Given the description of an element on the screen output the (x, y) to click on. 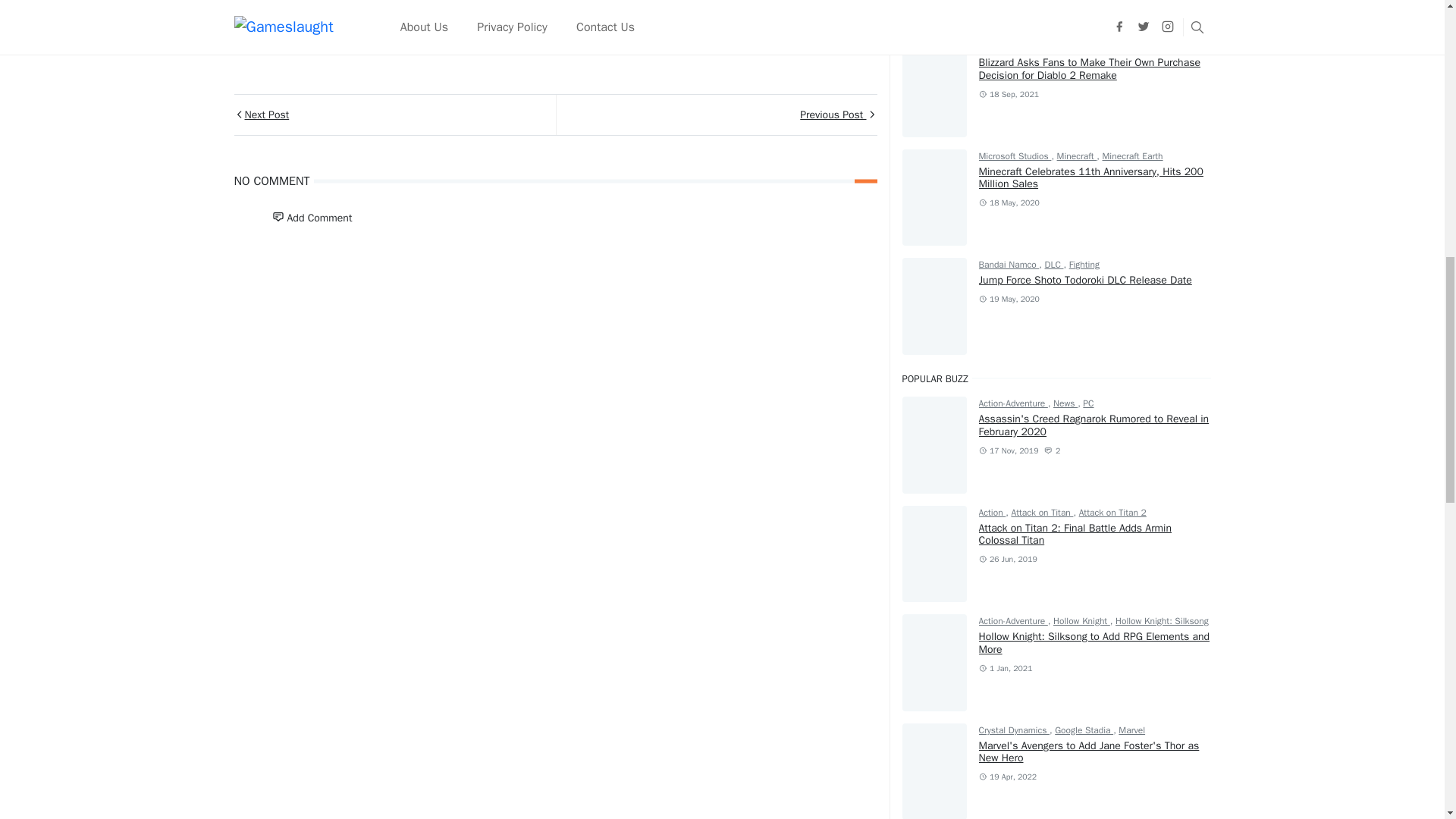
Video Game (686, 36)
Single-Player (584, 36)
Fishing Cactus (362, 36)
Epistory (266, 36)
Next Post (393, 115)
Add Comment (311, 217)
Previous Post (715, 115)
News (451, 36)
PC (507, 36)
